Given the description of an element on the screen output the (x, y) to click on. 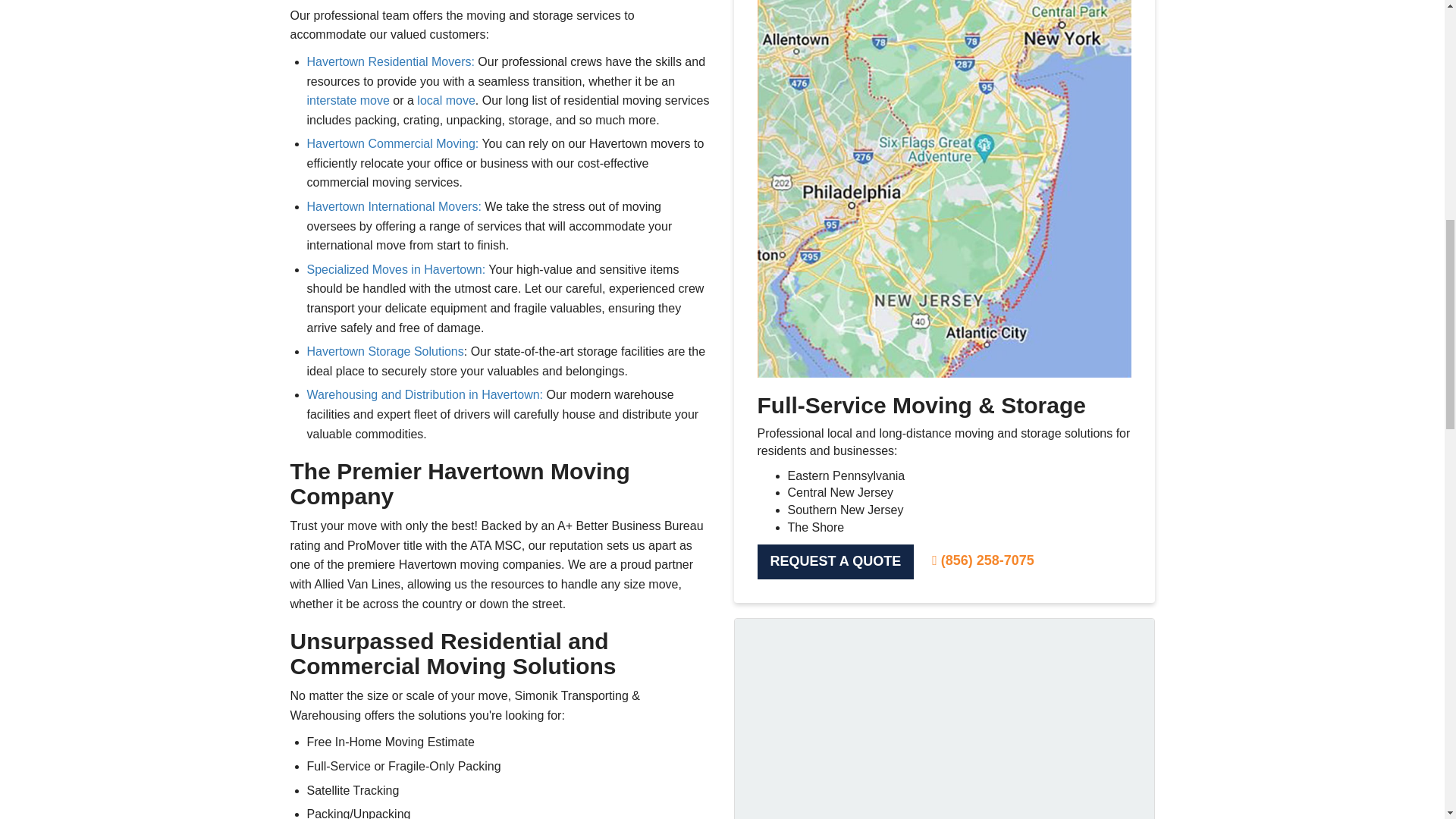
REQUEST A QUOTE (835, 561)
